Given the description of an element on the screen output the (x, y) to click on. 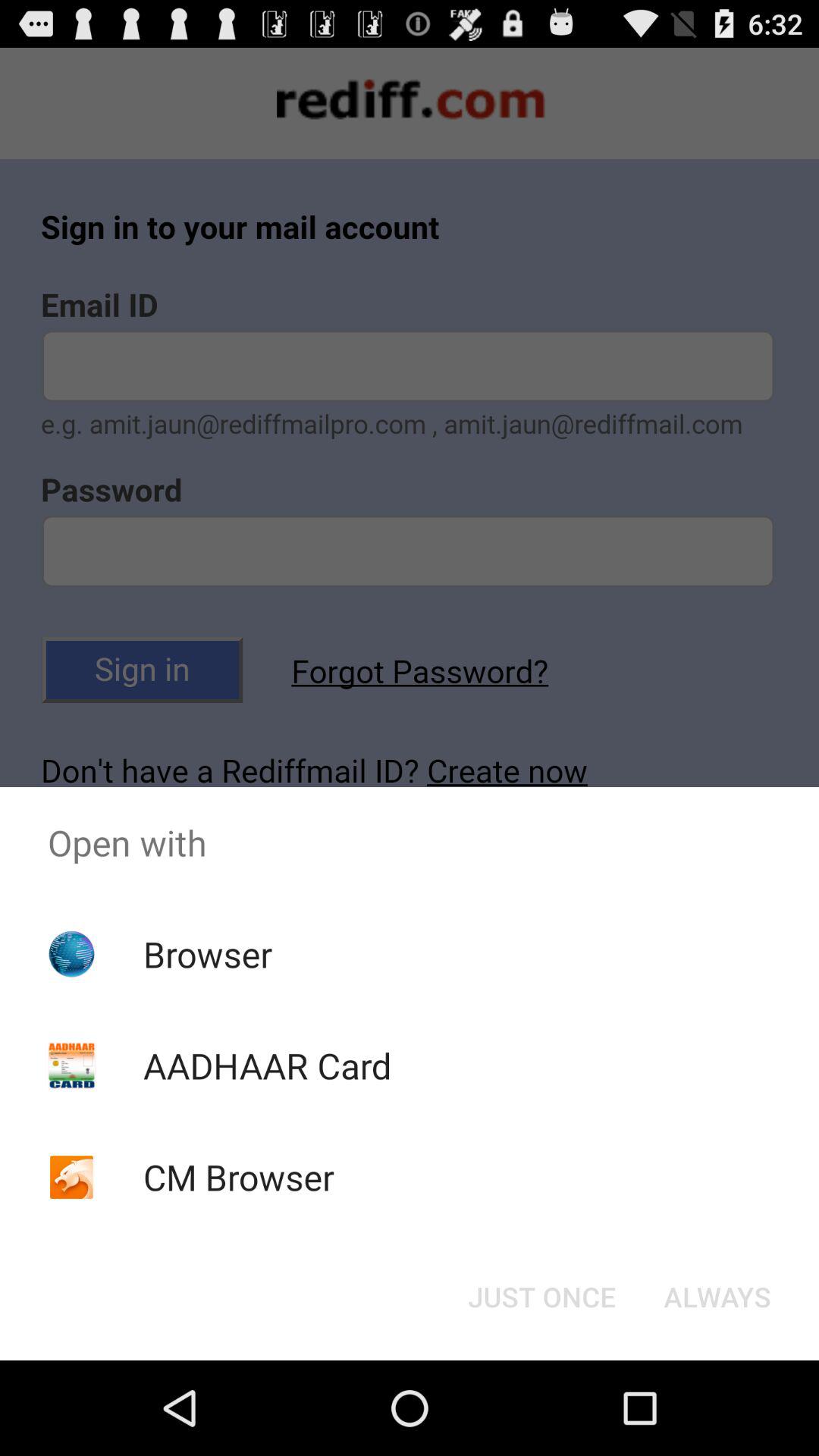
choose cm browser icon (238, 1176)
